Given the description of an element on the screen output the (x, y) to click on. 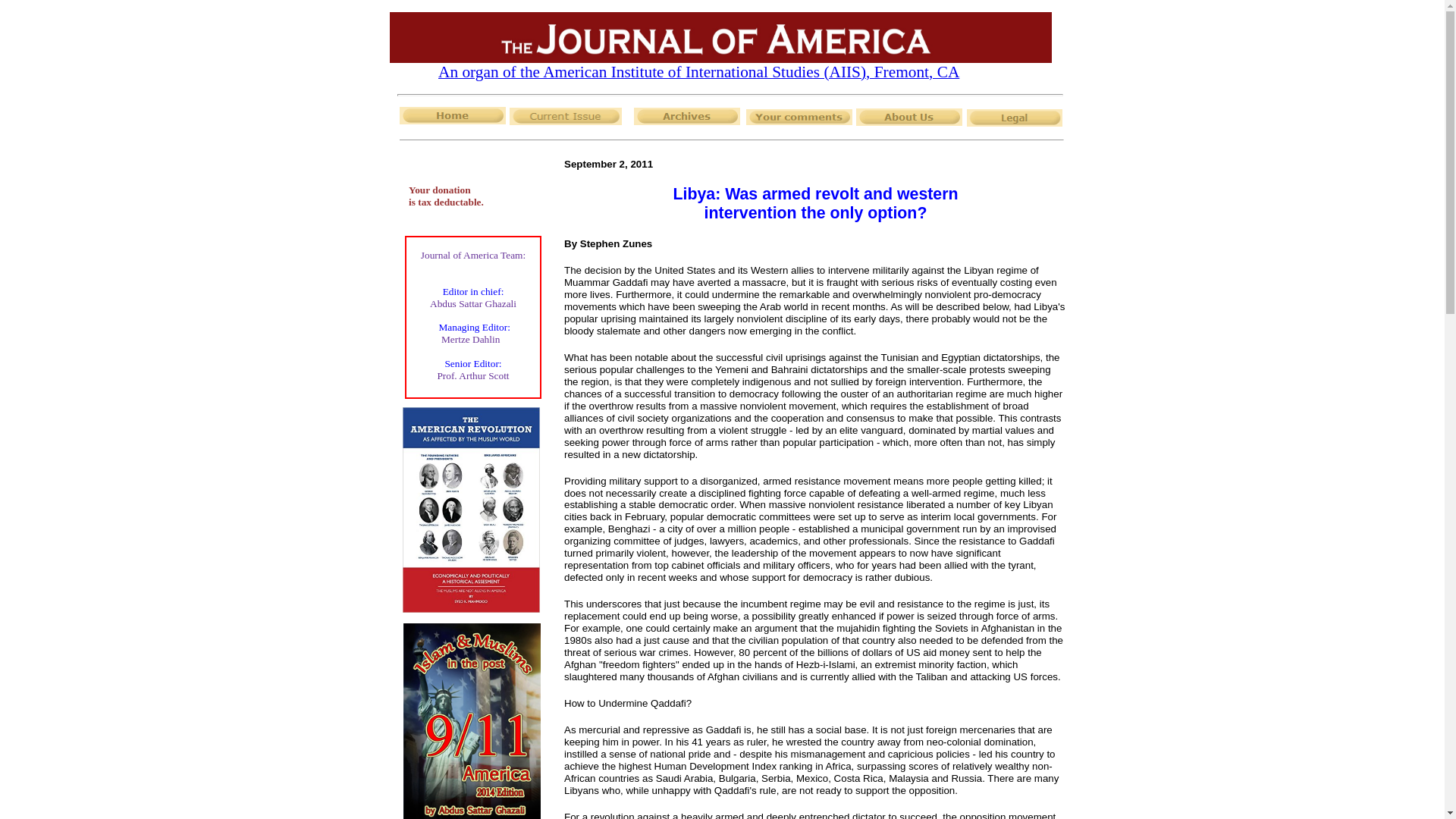
Archives (686, 116)
JOA-F (720, 37)
Legal (1014, 117)
Home (451, 115)
